Given the description of an element on the screen output the (x, y) to click on. 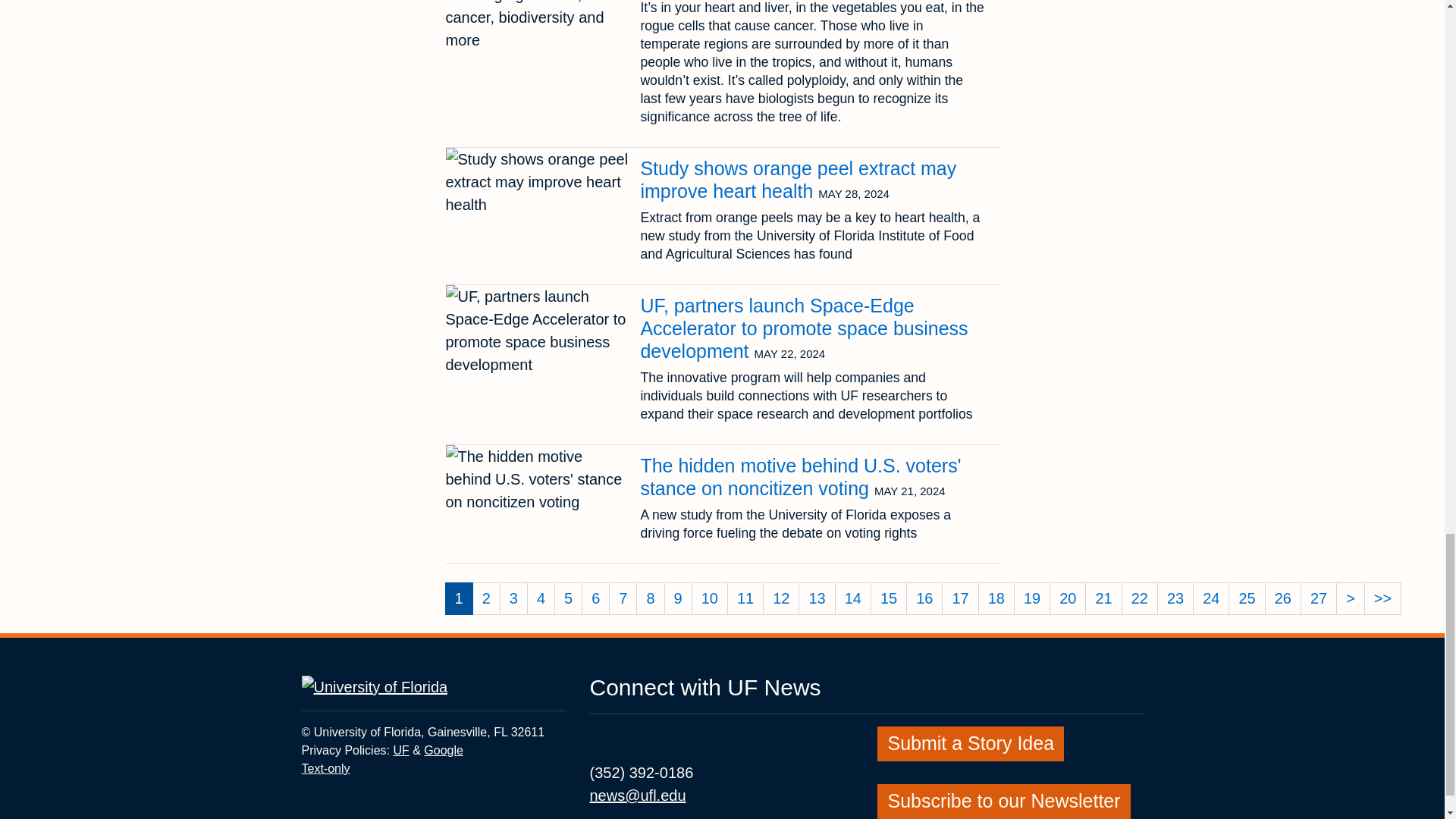
Study shows orange peel extract may improve heart health (798, 179)
